Given the description of an element on the screen output the (x, y) to click on. 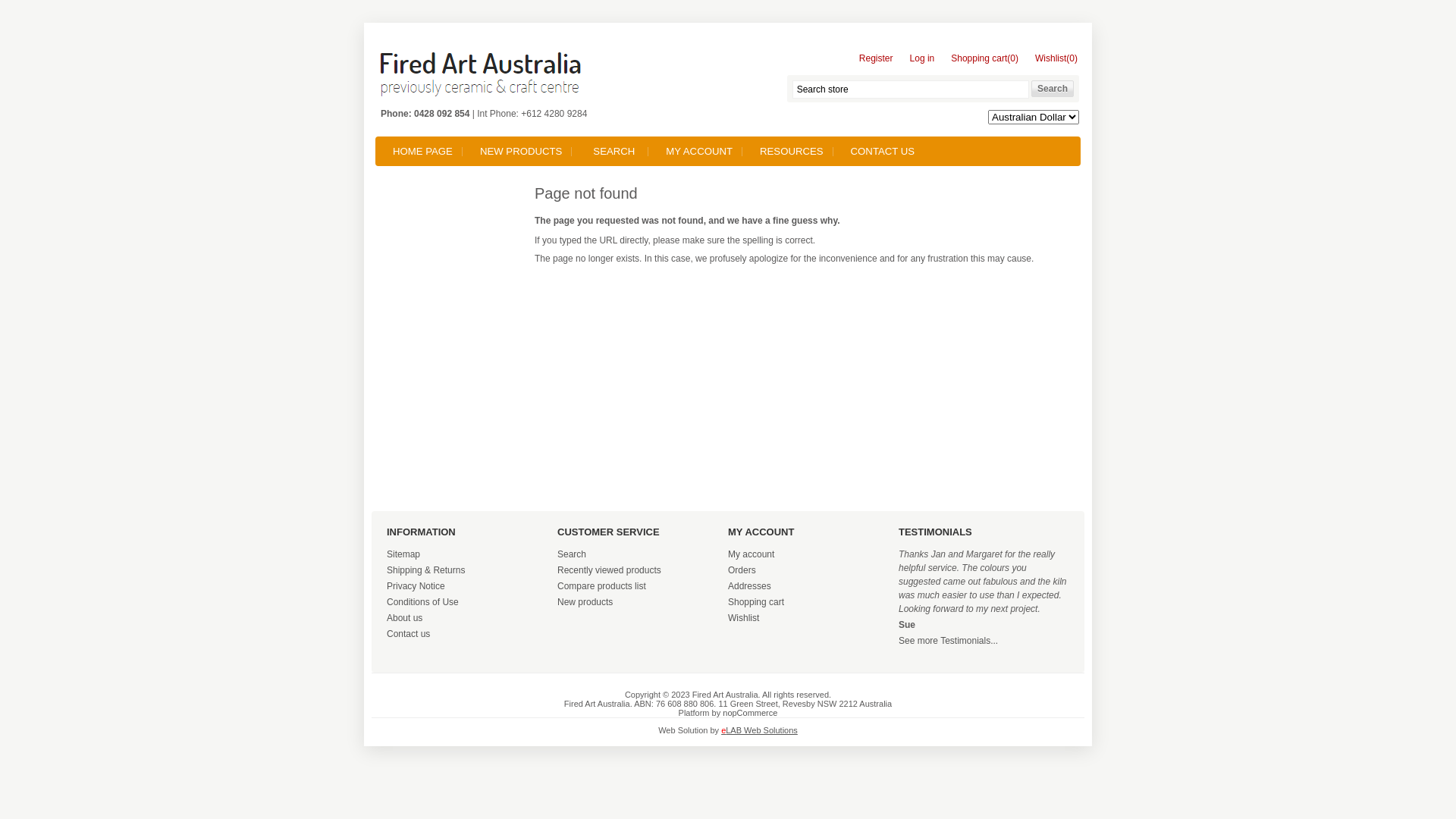
See more Testimonials... Element type: text (947, 640)
About us Element type: text (404, 617)
Wishlist
(0) Element type: text (1052, 60)
Search Element type: text (571, 554)
Privacy Notice Element type: text (415, 585)
Shopping cart
(0) Element type: text (980, 60)
Register Element type: text (872, 60)
CONTACT US Element type: text (883, 151)
New products Element type: text (584, 601)
Recently viewed products Element type: text (609, 569)
HOME PAGE Element type: text (422, 151)
Shopping cart Element type: text (756, 601)
My account Element type: text (751, 554)
Conditions of Use Element type: text (422, 601)
Log in Element type: text (918, 60)
eLAB Web Solutions Element type: text (759, 729)
RESOURCES Element type: text (791, 151)
Sitemap Element type: text (403, 554)
Search Element type: text (1052, 88)
Addresses Element type: text (749, 585)
Wishlist Element type: text (743, 617)
  Element type: text (481, 74)
Shipping & Returns Element type: text (425, 569)
MY ACCOUNT Element type: text (699, 151)
NEW PRODUCTS Element type: text (520, 151)
Compare products list Element type: text (601, 585)
Contact us Element type: text (407, 633)
nopCommerce Element type: text (749, 712)
Orders Element type: text (742, 569)
SEARCH Element type: text (613, 151)
